Given the description of an element on the screen output the (x, y) to click on. 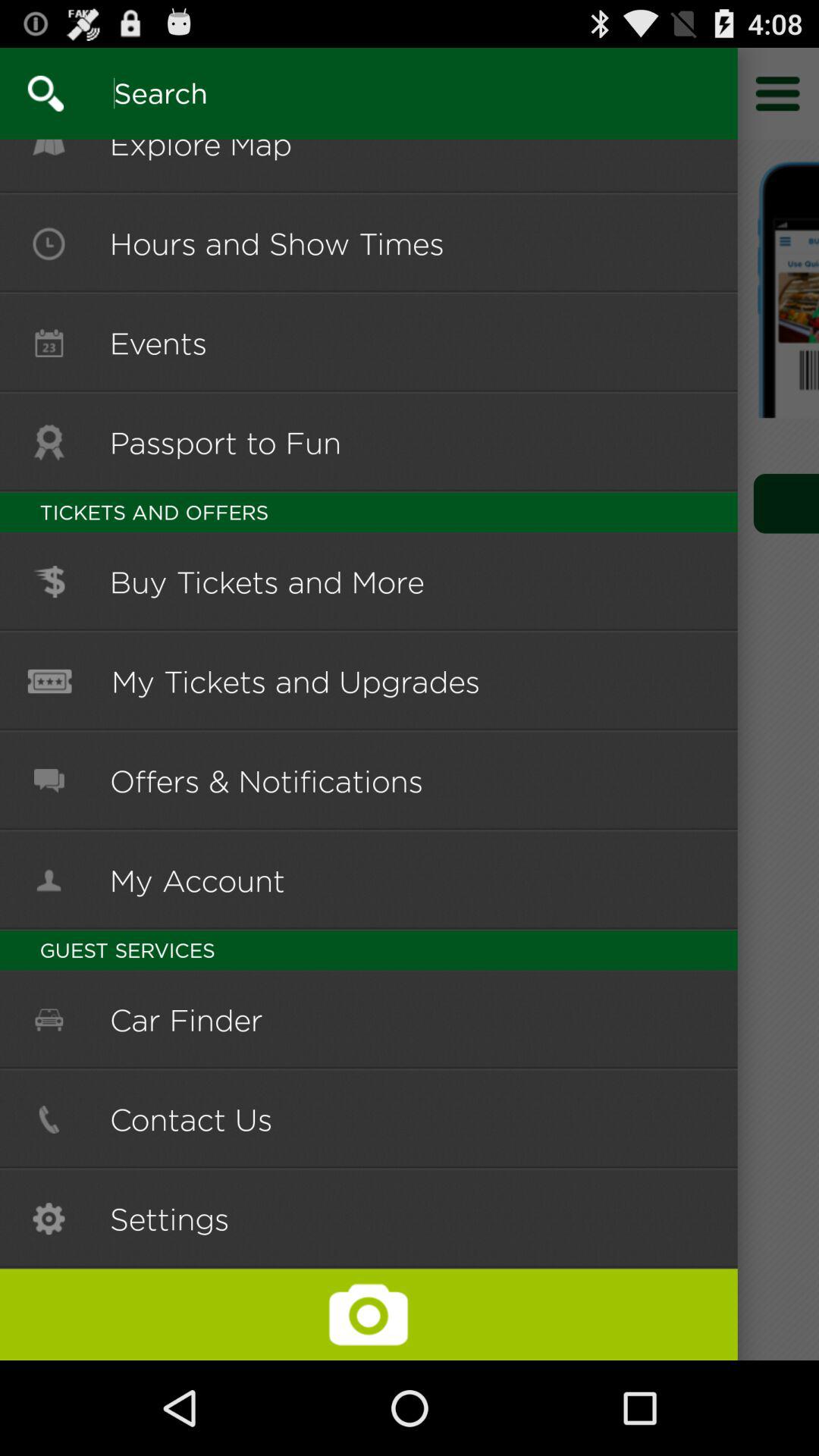
search for information about the park (31, 93)
